Given the description of an element on the screen output the (x, y) to click on. 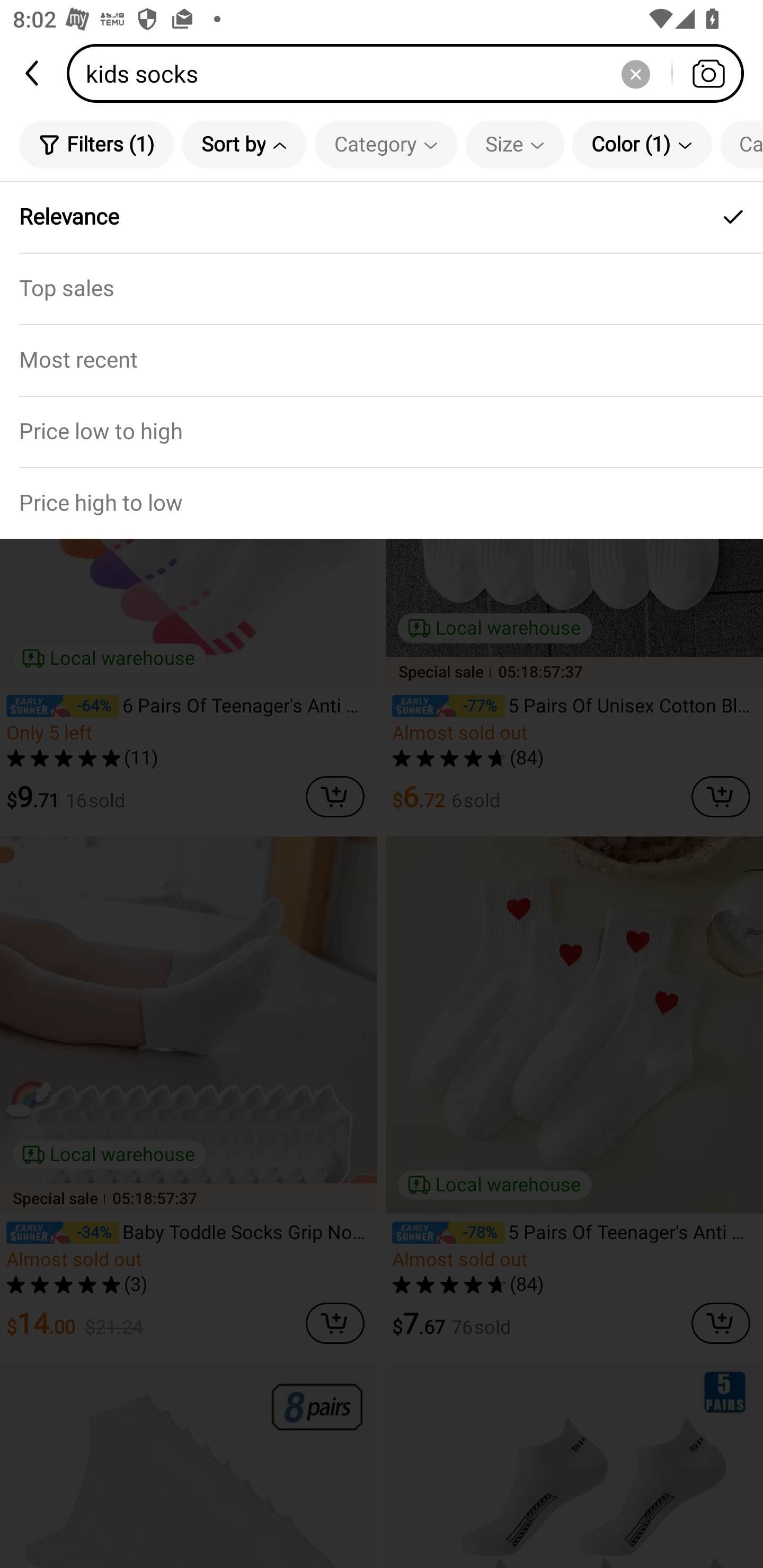
back (33, 72)
kids socks (411, 73)
Delete search history (635, 73)
Search by photo (708, 73)
Filters (1) (96, 143)
Sort by (243, 143)
Category (385, 143)
Size (514, 143)
Color (1) (641, 143)
Relevance (381, 216)
Top sales (381, 288)
Most recent (381, 359)
Price low to high (381, 431)
Price high to low (381, 503)
